Given the description of an element on the screen output the (x, y) to click on. 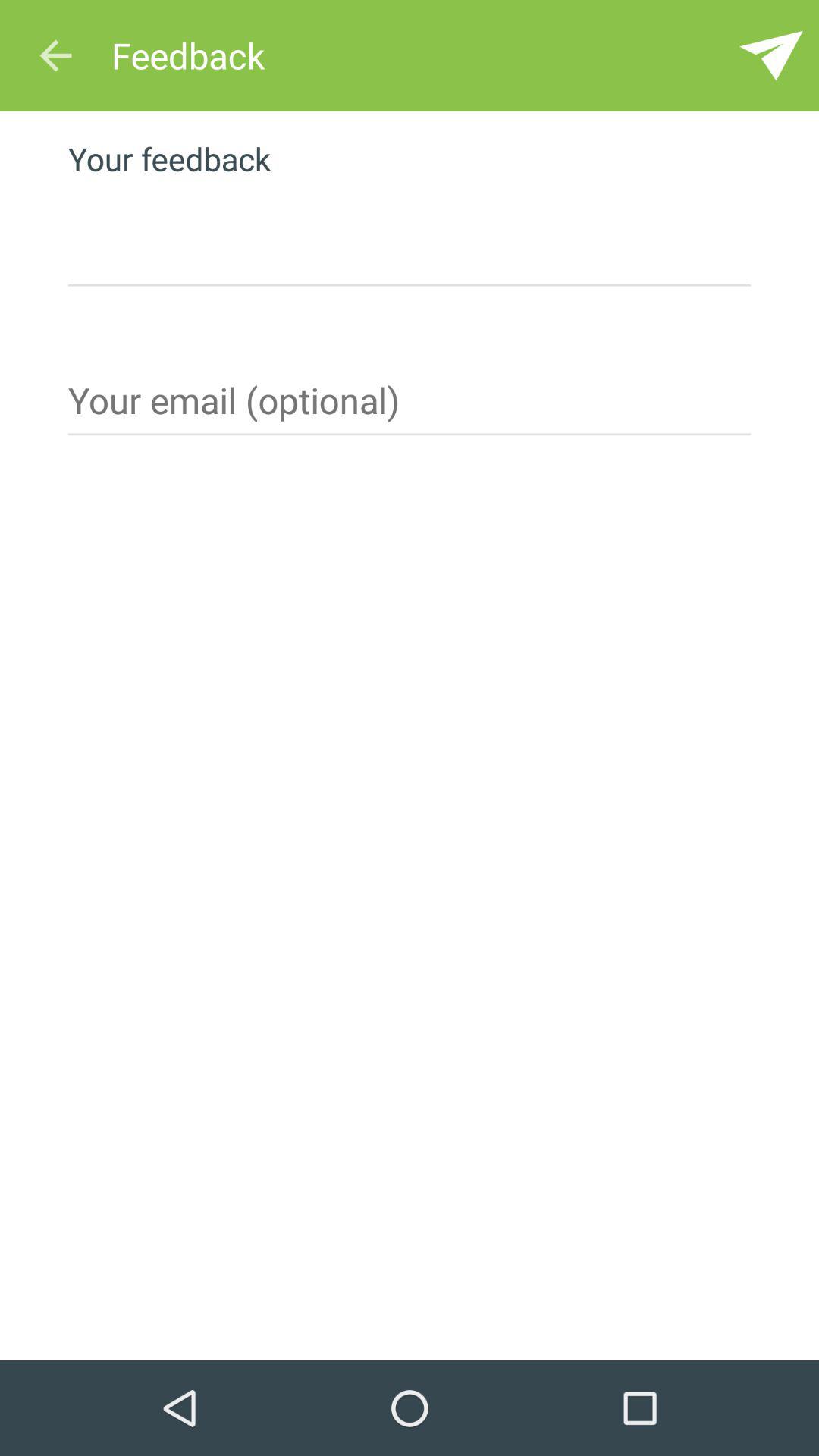
enter the feedback (409, 236)
